Given the description of an element on the screen output the (x, y) to click on. 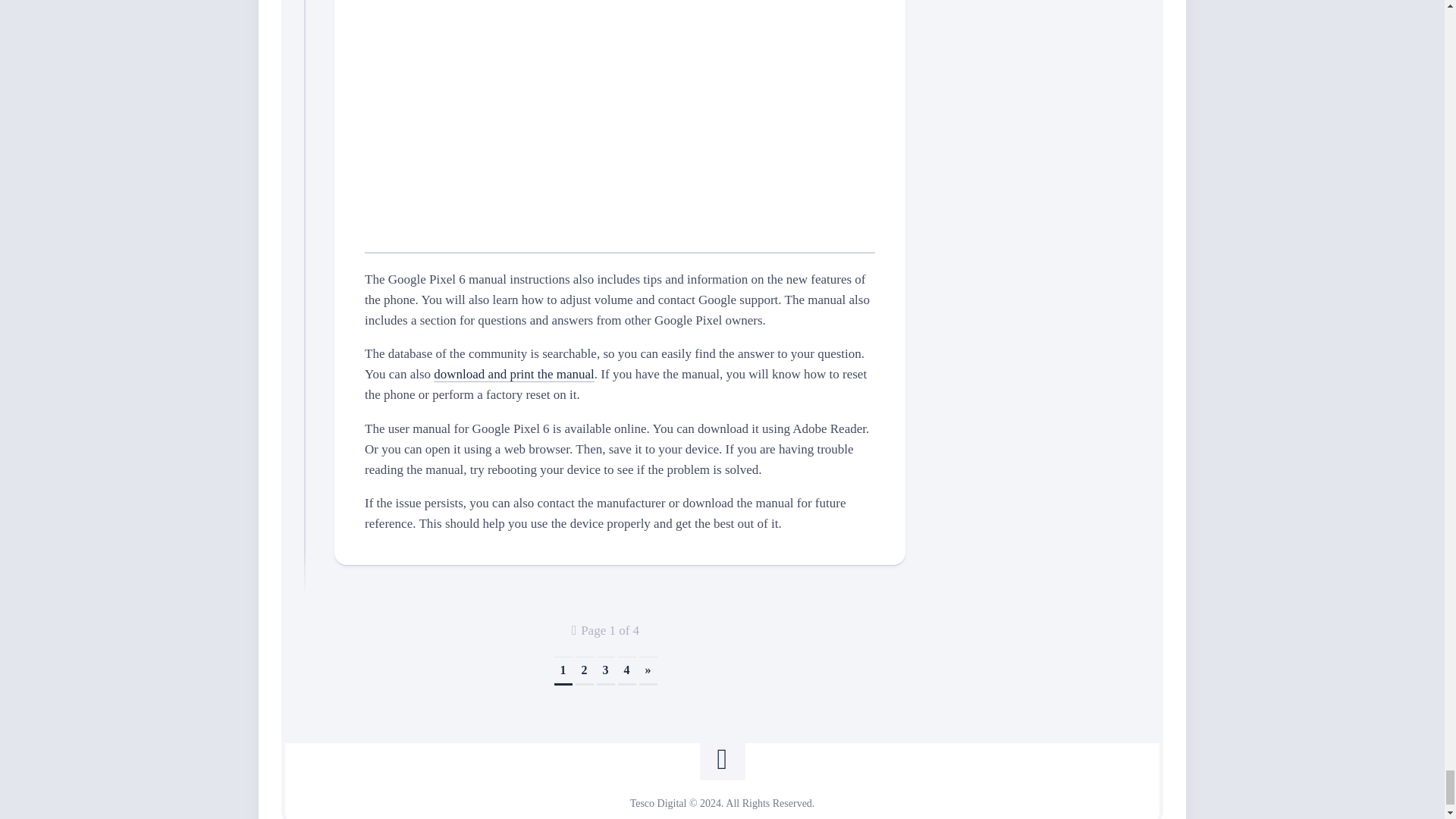
Page 3 (604, 670)
Page 4 (625, 670)
Page 2 (583, 670)
